Given the description of an element on the screen output the (x, y) to click on. 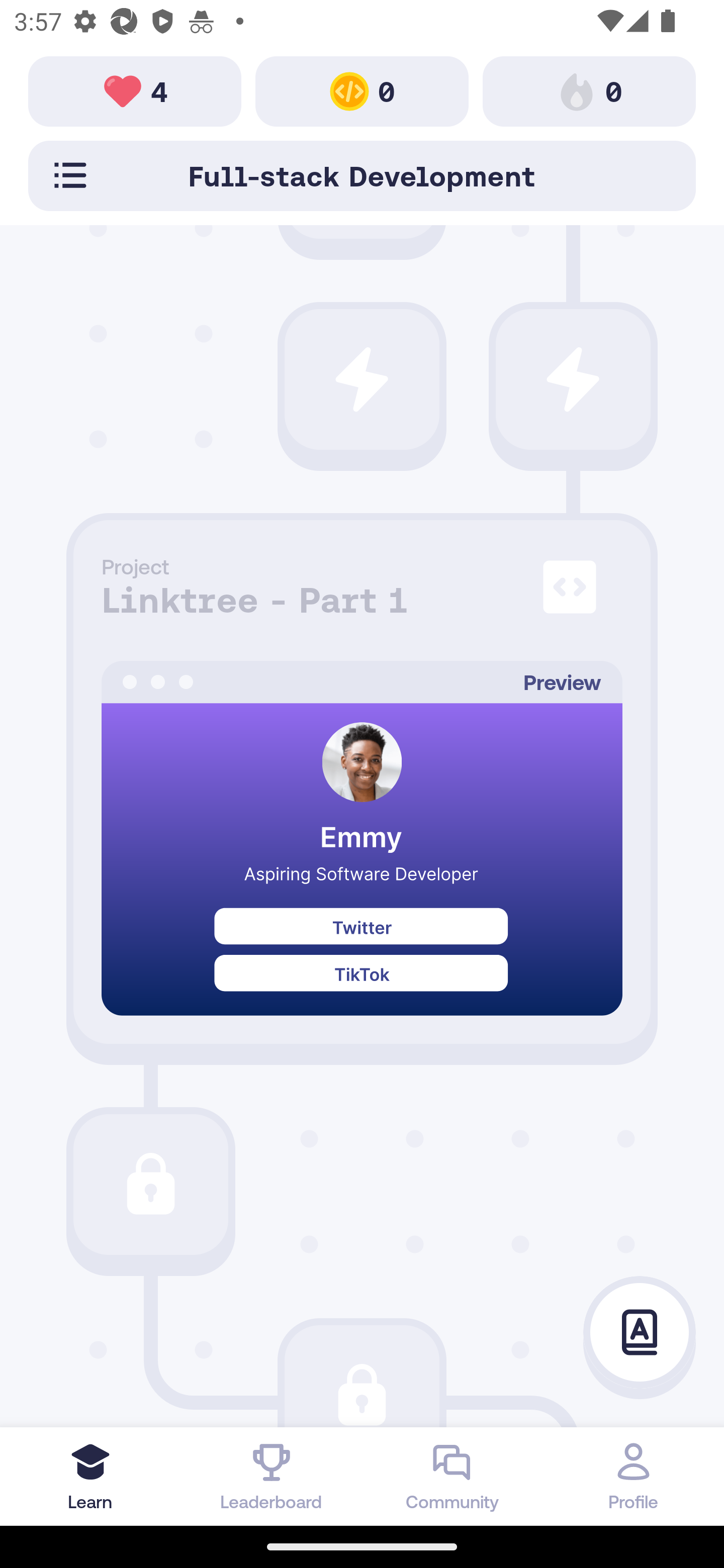
Path Toolbar Image 4 (134, 90)
Path Toolbar Image 0 (361, 90)
Path Toolbar Image 0 (588, 90)
Path Toolbar Selector Full-stack Development (361, 175)
Path Icon (361, 379)
Path Icon (572, 379)
Path Icon (150, 1184)
Glossary Icon (639, 1332)
Path Icon (361, 1375)
Leaderboard (271, 1475)
Community (452, 1475)
Profile (633, 1475)
